Given the description of an element on the screen output the (x, y) to click on. 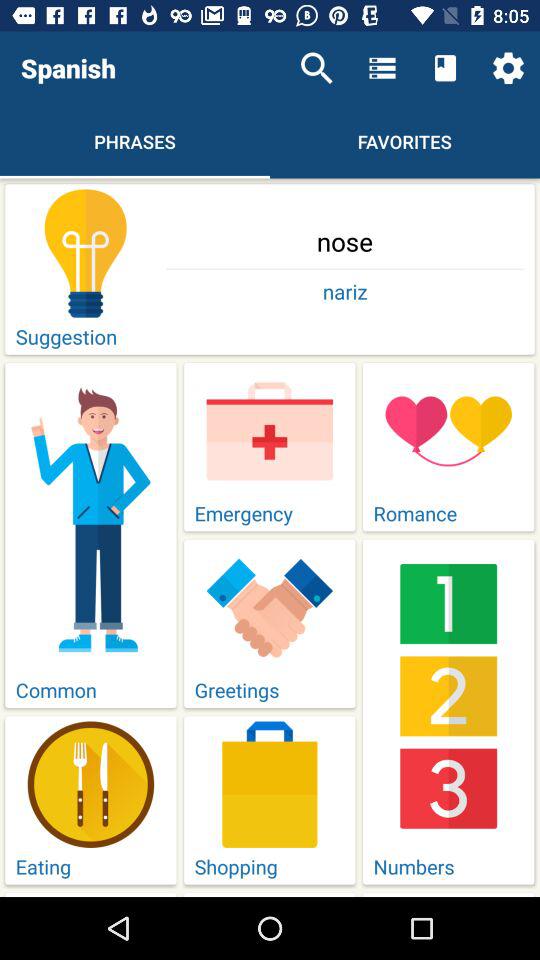
launch the icon above nose icon (508, 67)
